Given the description of an element on the screen output the (x, y) to click on. 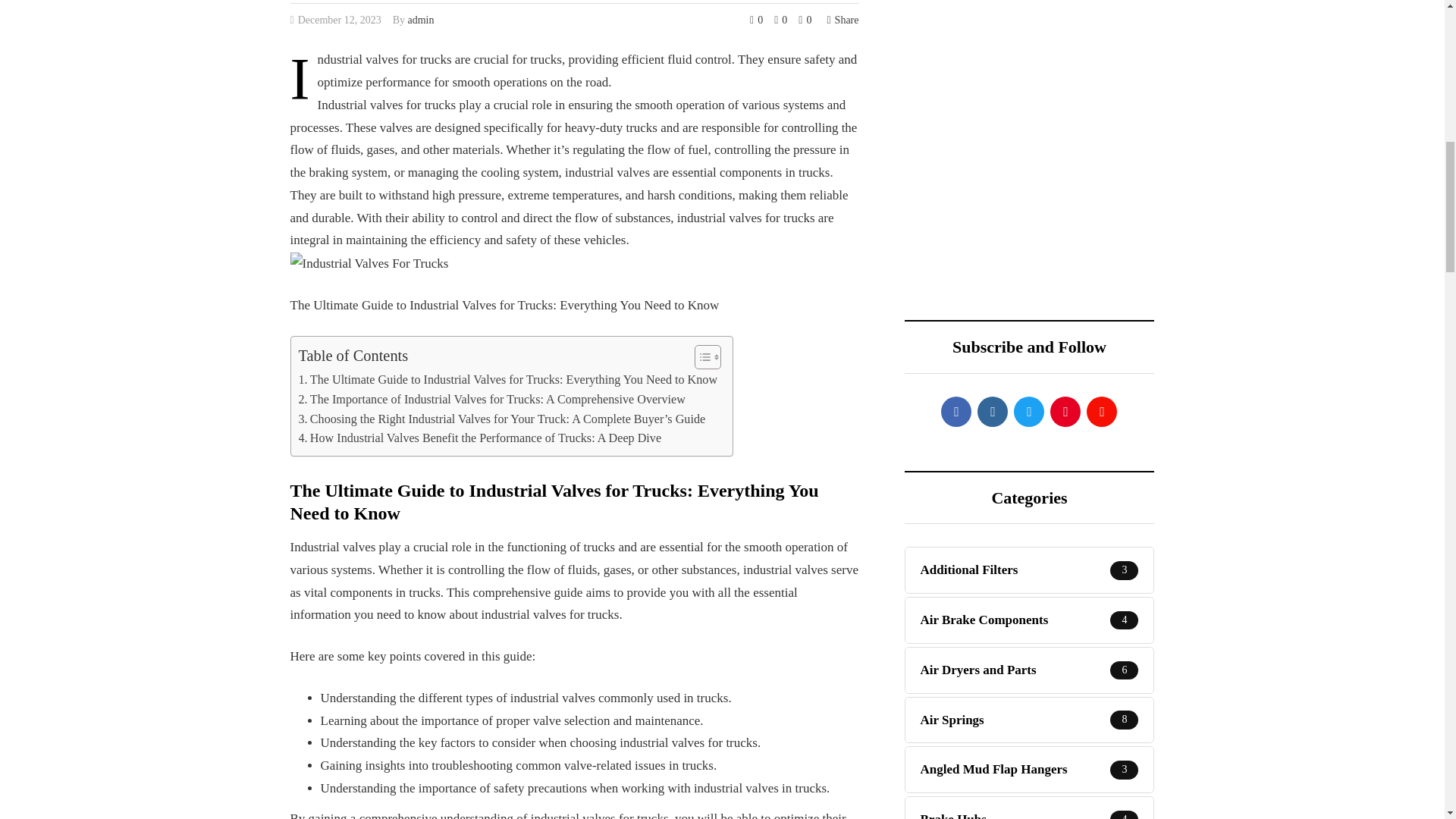
Industrial Valves For Trucks 2 (368, 263)
Posts by admin (420, 19)
